Given the description of an element on the screen output the (x, y) to click on. 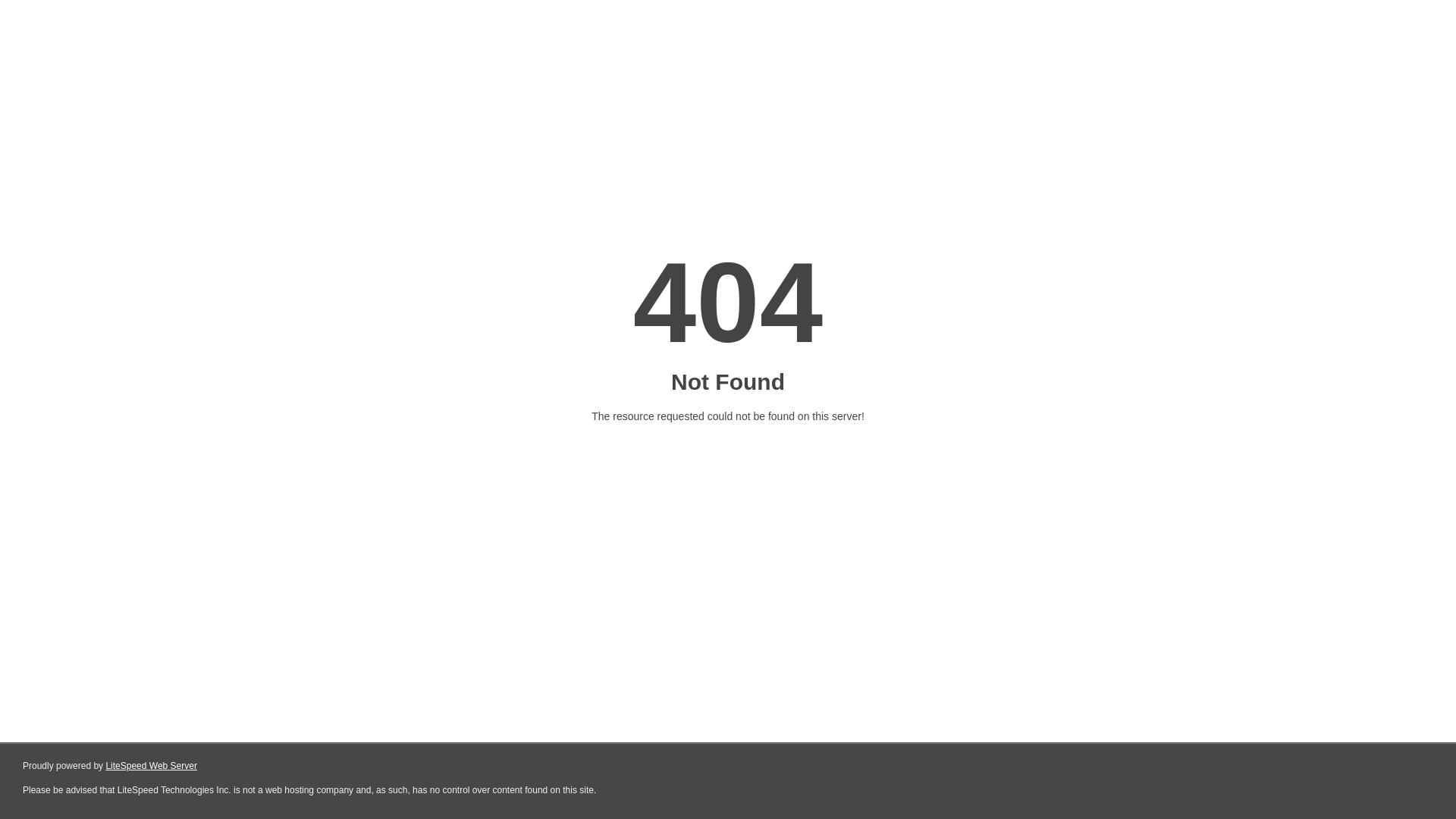
LiteSpeed Web Server Element type: text (151, 765)
